Given the description of an element on the screen output the (x, y) to click on. 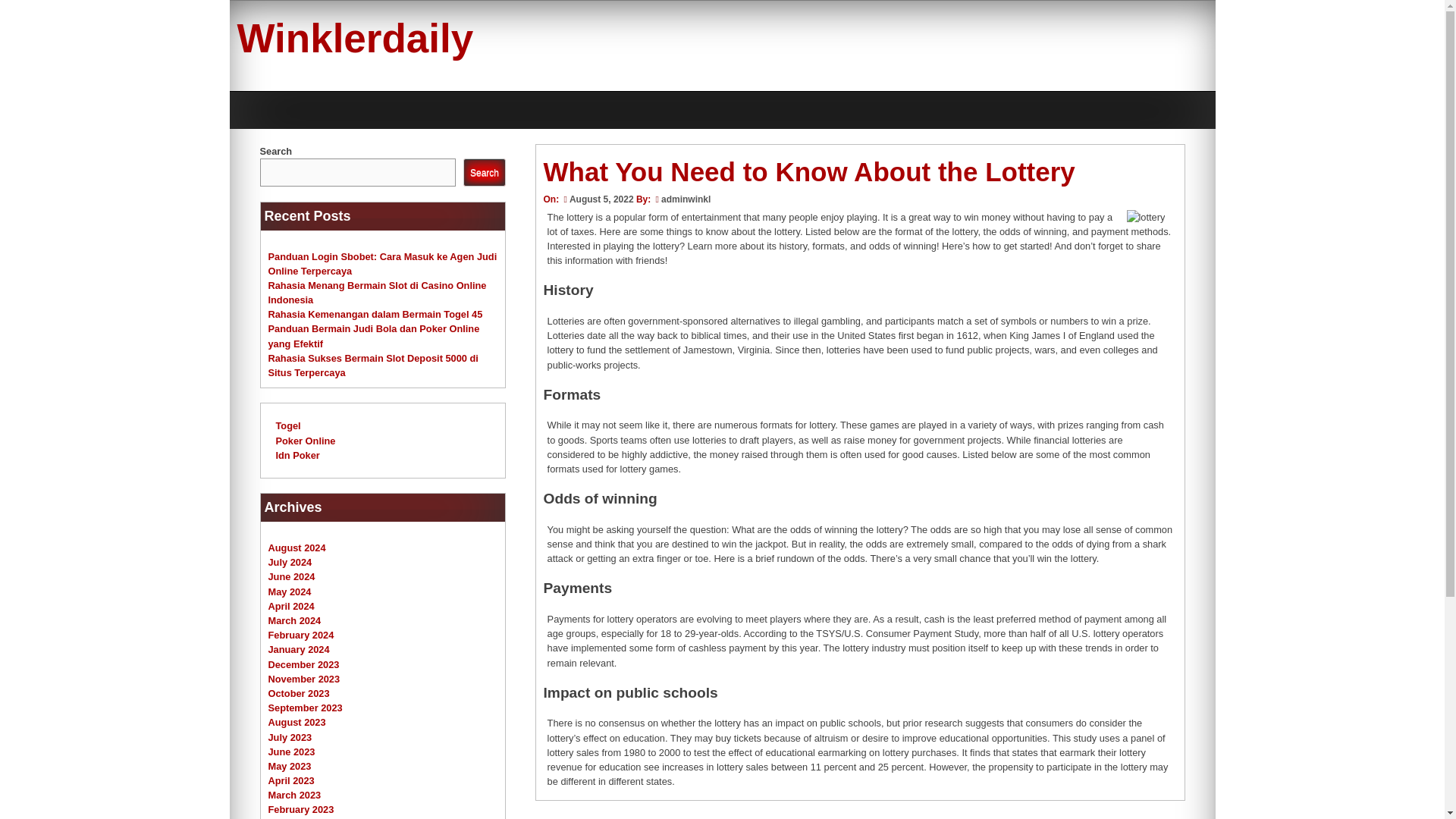
Idn Poker (298, 455)
February 2023 (300, 808)
Togel (288, 425)
June 2024 (291, 576)
August 2023 (296, 722)
Search (484, 172)
Rahasia Sukses Bermain Slot Deposit 5000 di Situs Terpercaya (373, 365)
September 2023 (304, 707)
adminwinkl (685, 199)
August 2024 (296, 547)
